Given the description of an element on the screen output the (x, y) to click on. 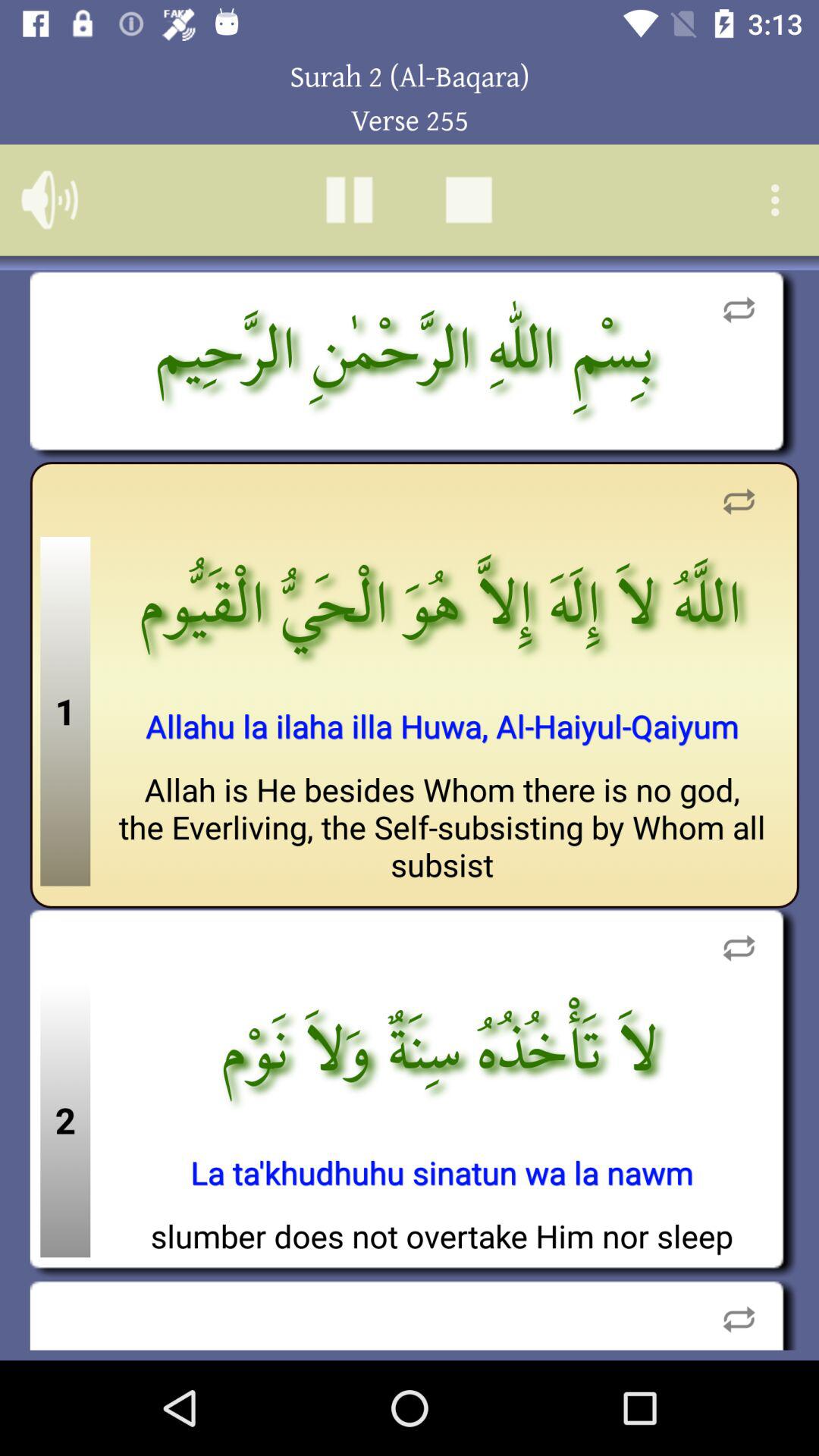
switch (738, 501)
